Given the description of an element on the screen output the (x, y) to click on. 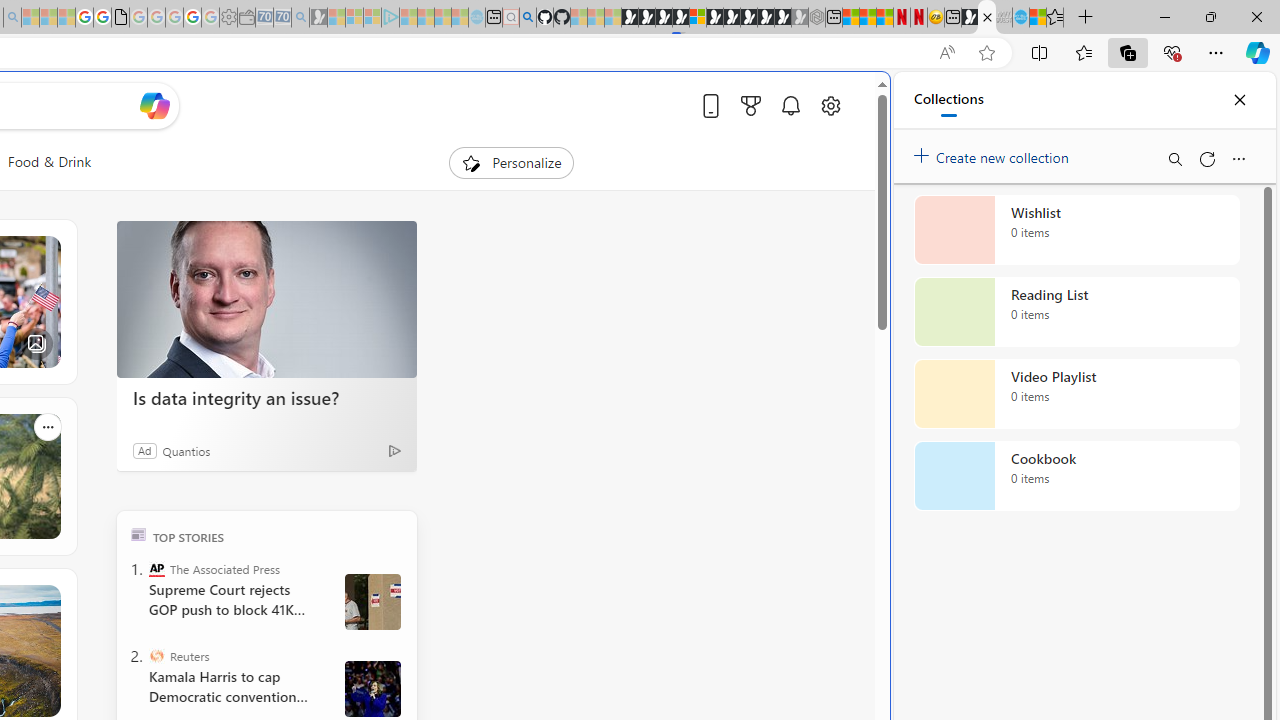
The Associated Press (156, 568)
Video Playlist collection, 0 items (1076, 394)
Cookbook collection, 0 items (1076, 475)
Reuters (156, 655)
